Given the description of an element on the screen output the (x, y) to click on. 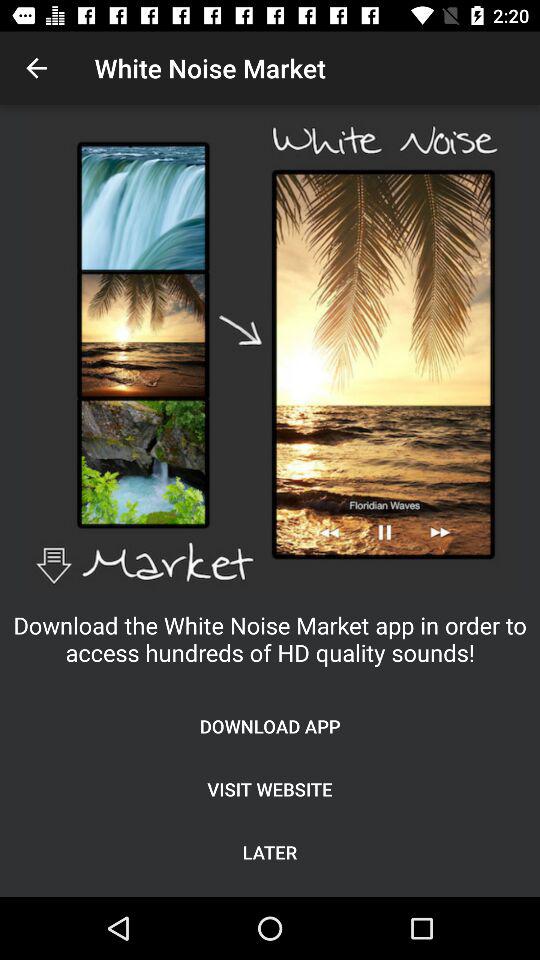
tap visit website item (269, 788)
